Given the description of an element on the screen output the (x, y) to click on. 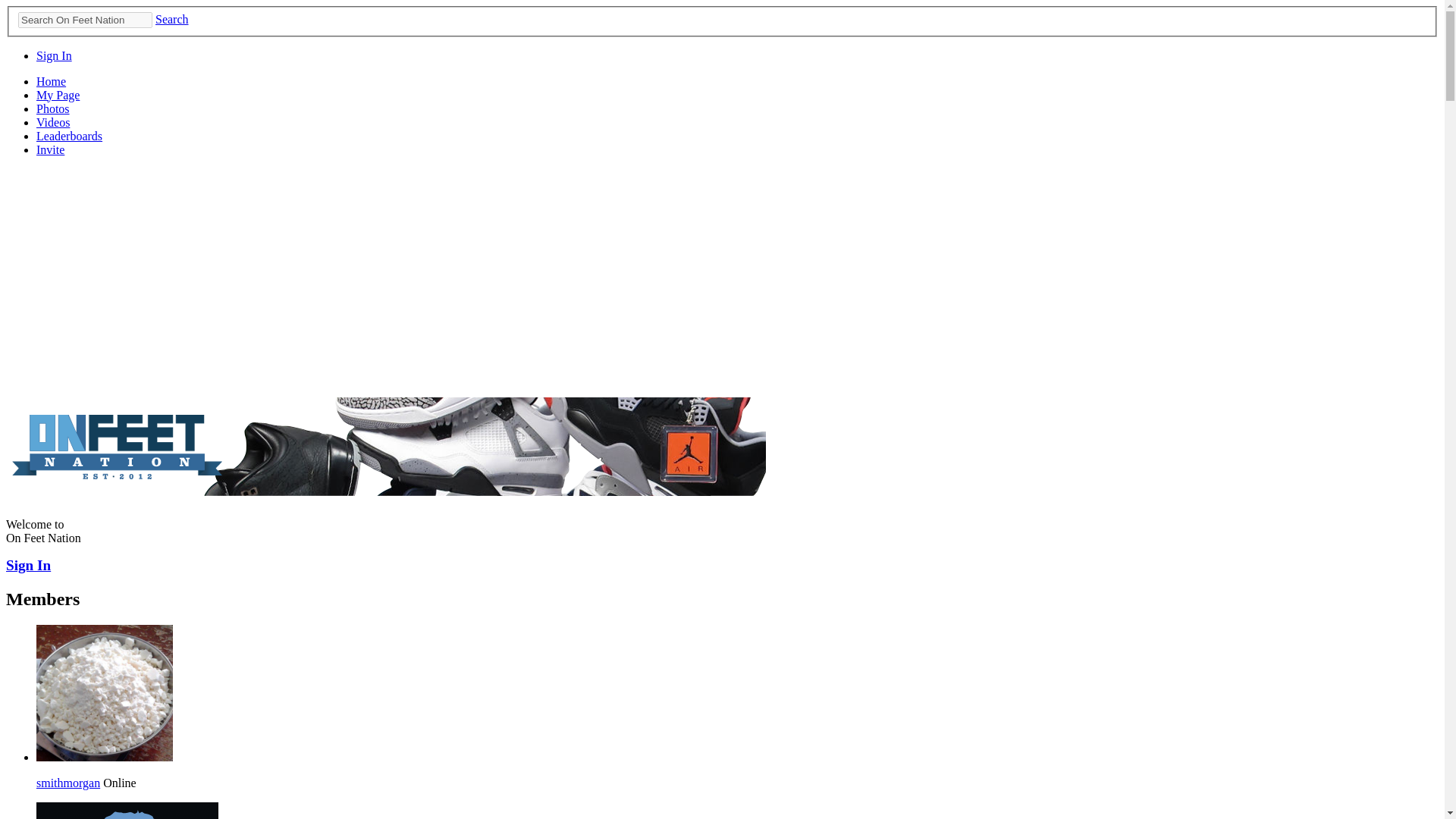
Videos (52, 122)
Sign In (53, 55)
Search (172, 19)
Search On Feet Nation (84, 19)
Leaderboards (68, 135)
Home (50, 81)
smithmorgan (68, 782)
Search On Feet Nation (84, 19)
Sign In (27, 565)
Invite (50, 149)
Photos (52, 108)
smithmorgan (104, 757)
My Page (58, 94)
